Given the description of an element on the screen output the (x, y) to click on. 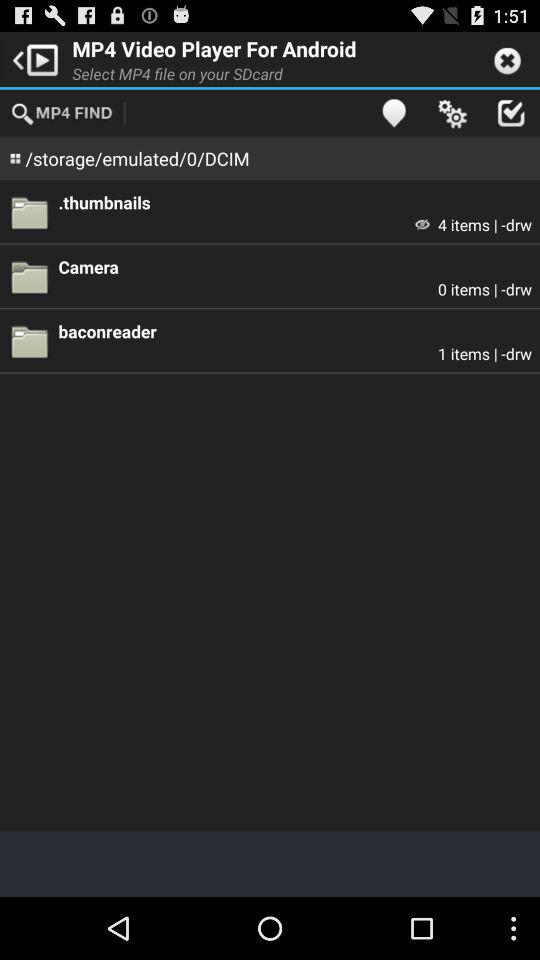
turn off the app to the left of 4 items | -drw item (422, 224)
